Given the description of an element on the screen output the (x, y) to click on. 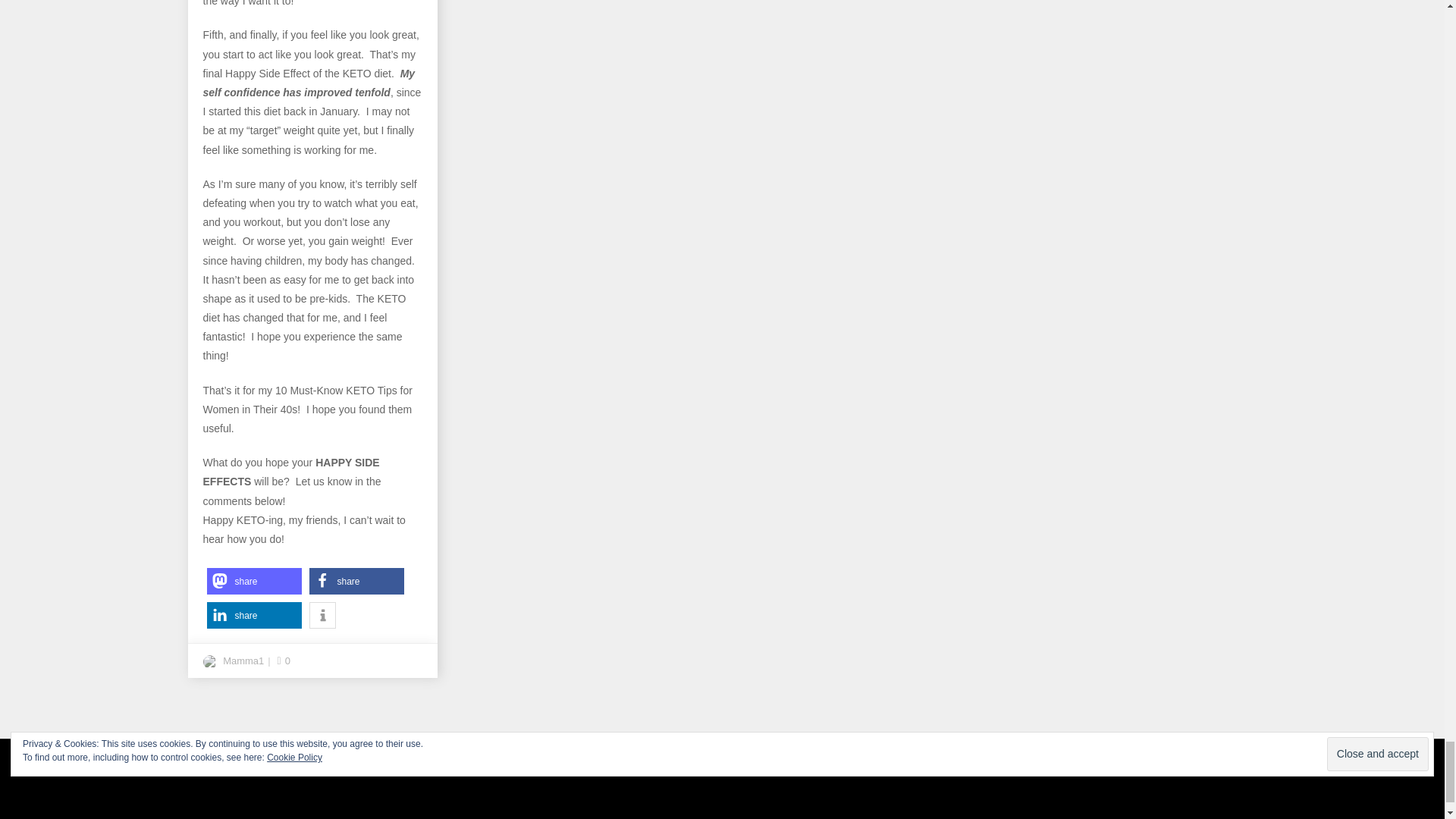
Share on Facebook (356, 581)
Share on LinkedIn (253, 614)
More information (322, 614)
Share on Mastodon (253, 581)
